Given the description of an element on the screen output the (x, y) to click on. 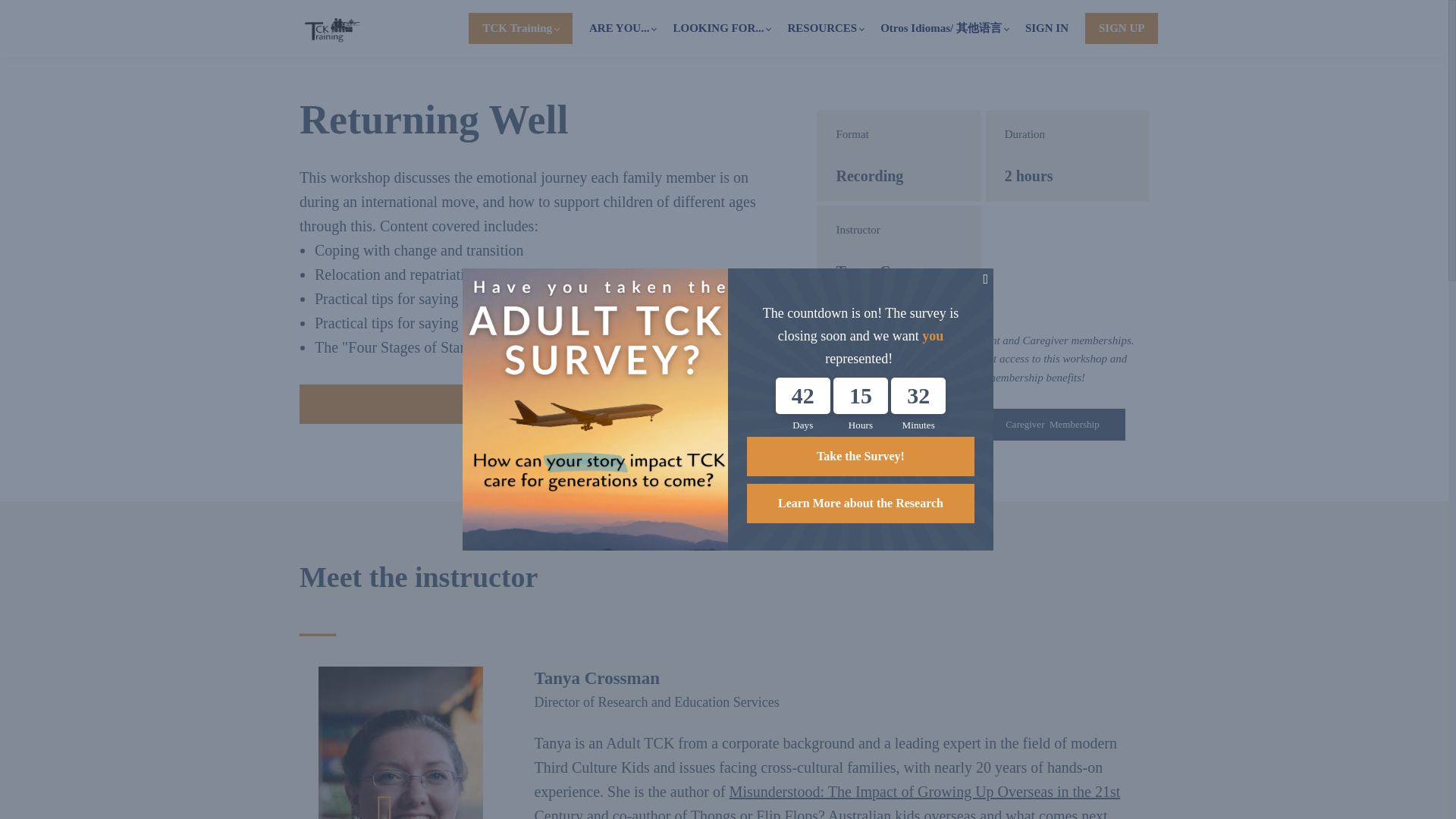
TCK Training (520, 28)
SIGN UP (1120, 28)
Parent  Membership (906, 424)
SIGN IN (1046, 27)
Caregiver  Membership (1051, 424)
